Given the description of an element on the screen output the (x, y) to click on. 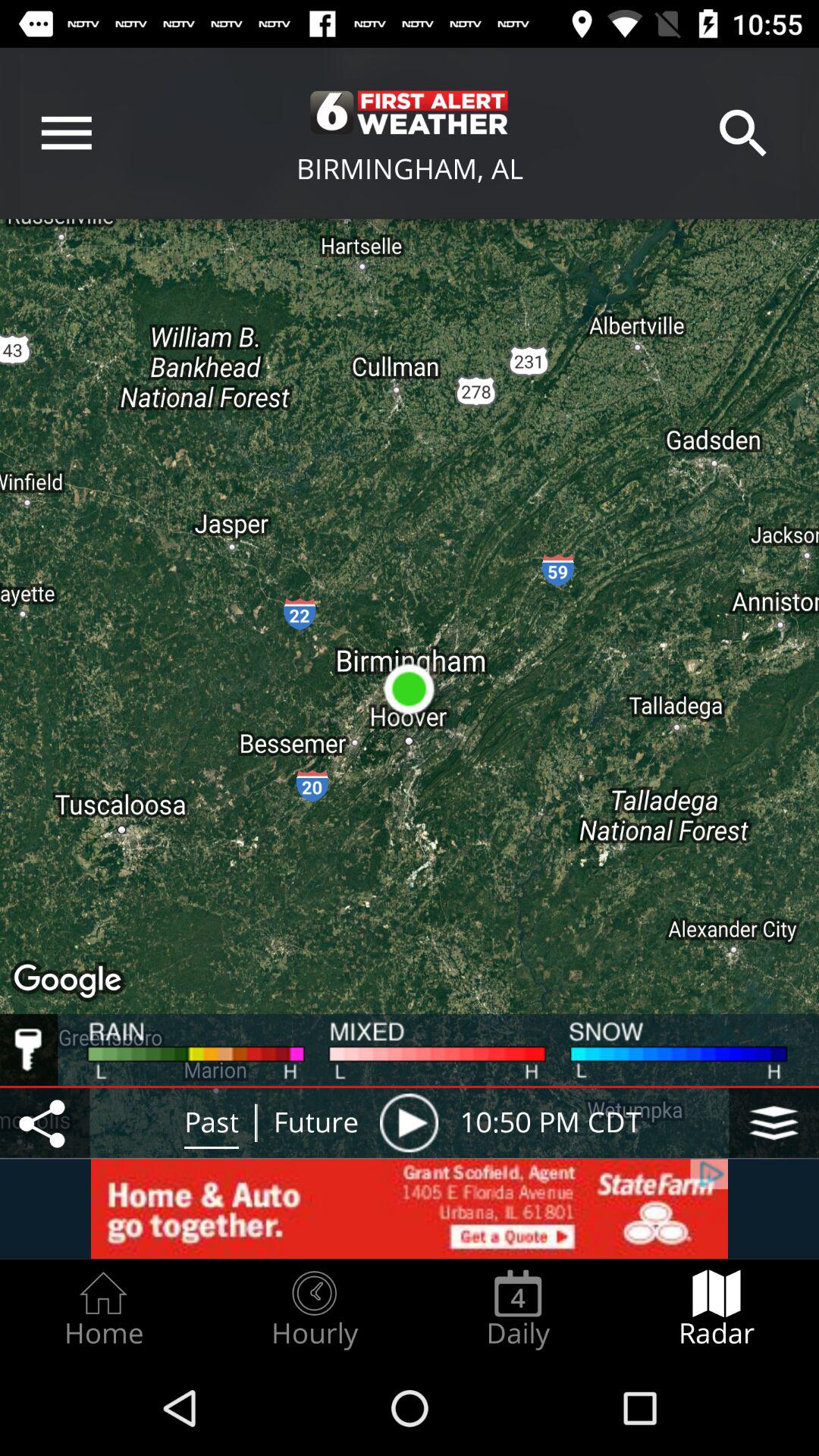
jump to the hourly icon (314, 1309)
